Given the description of an element on the screen output the (x, y) to click on. 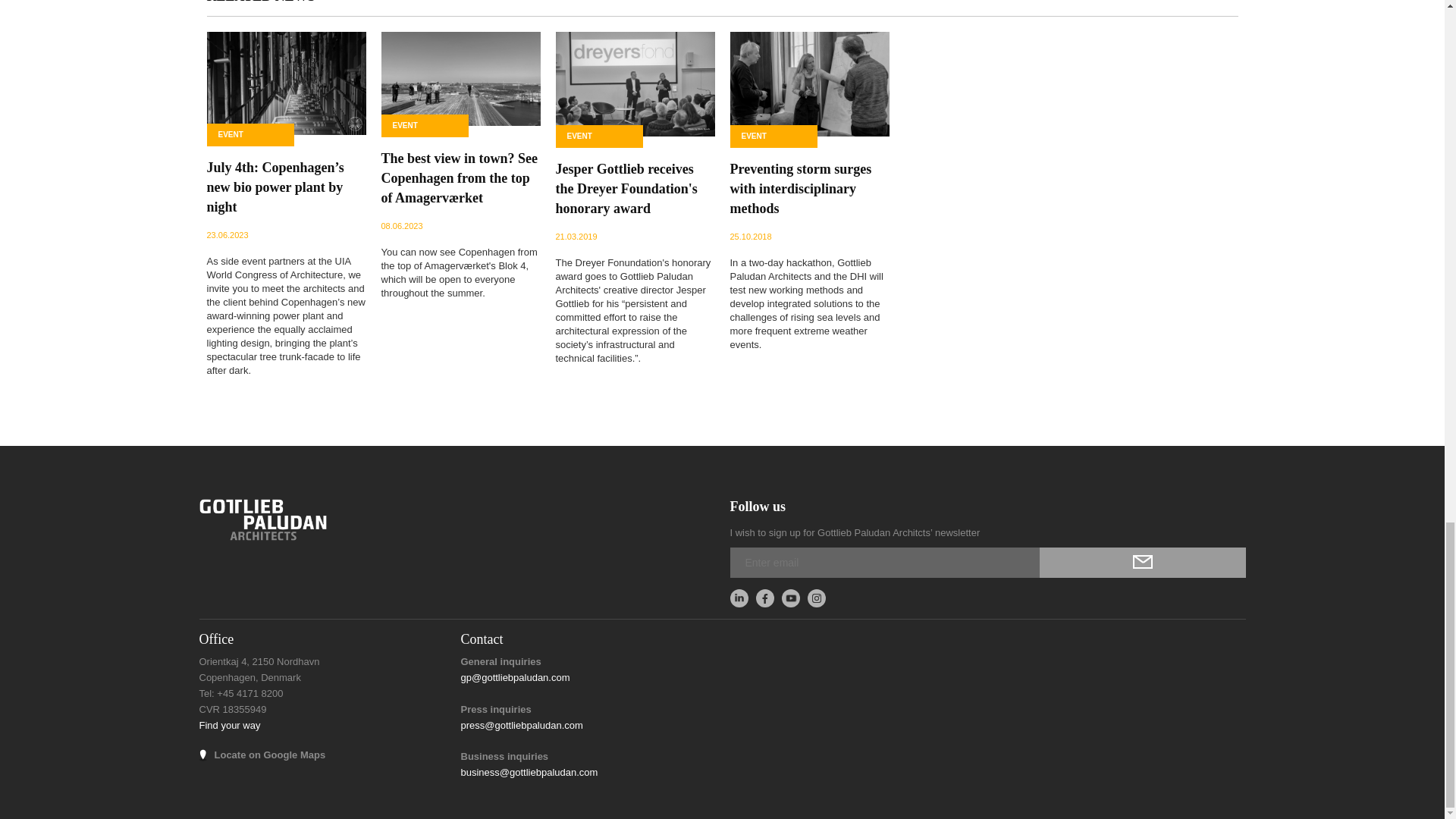
Linkedin (738, 597)
Find your way (229, 725)
Instagram (815, 597)
Facebook (764, 597)
Youtube (789, 597)
Locate on Google Maps (269, 754)
